Given the description of an element on the screen output the (x, y) to click on. 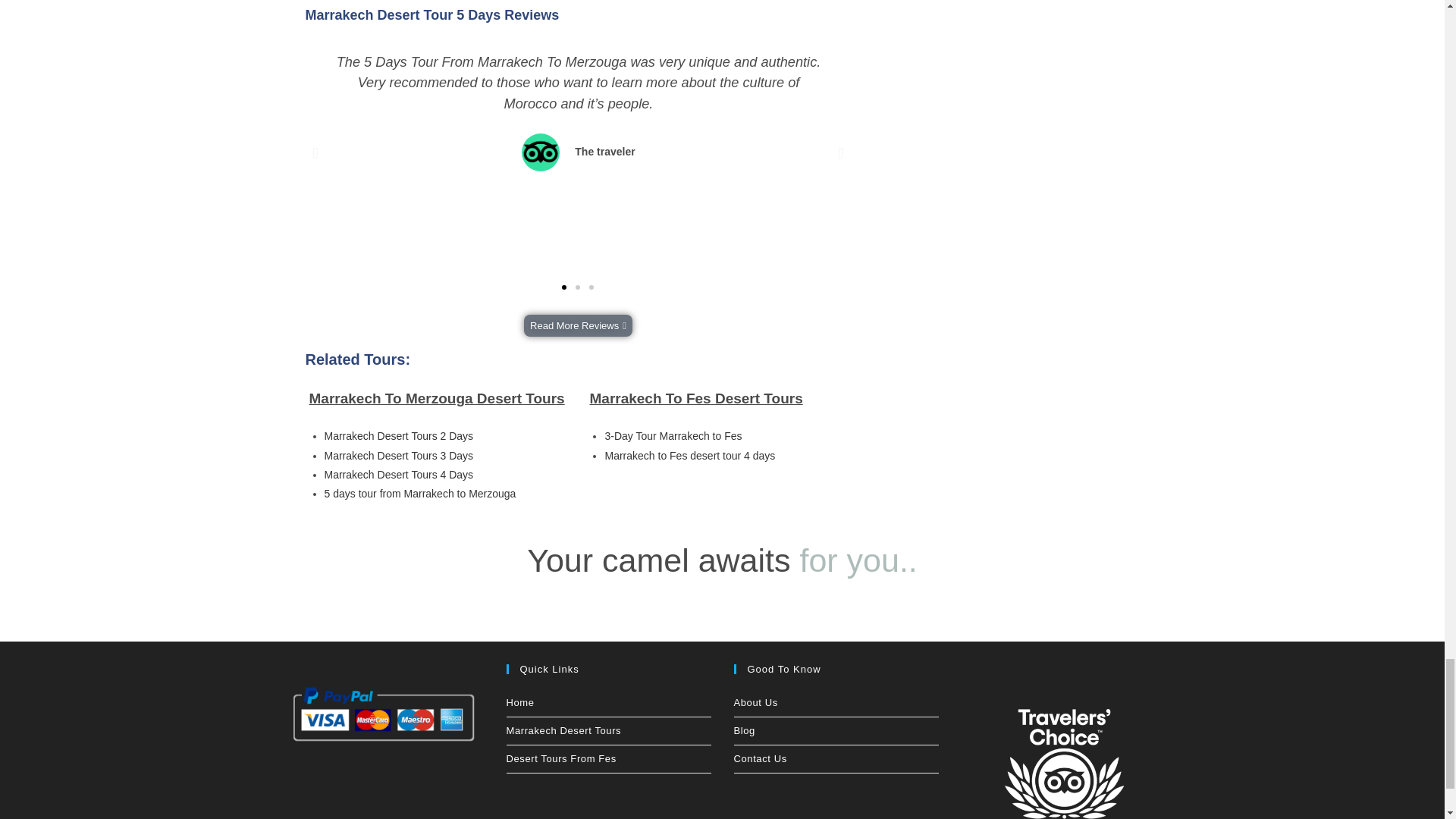
Marrakech to Fes desert tour 4 days (689, 455)
5 days tour from Marrakech to Merzouga (420, 493)
Marrakech Desert Tours 2 Days (399, 435)
Marrakech Desert Tours 3 Days (399, 455)
Read More Reviews (577, 325)
3 Days Desert Tour from Marrakech to Fes (672, 435)
Marrakech Desert Tours 4 Days (399, 474)
3-Day Tour Marrakech to Fes (672, 435)
